Given the description of an element on the screen output the (x, y) to click on. 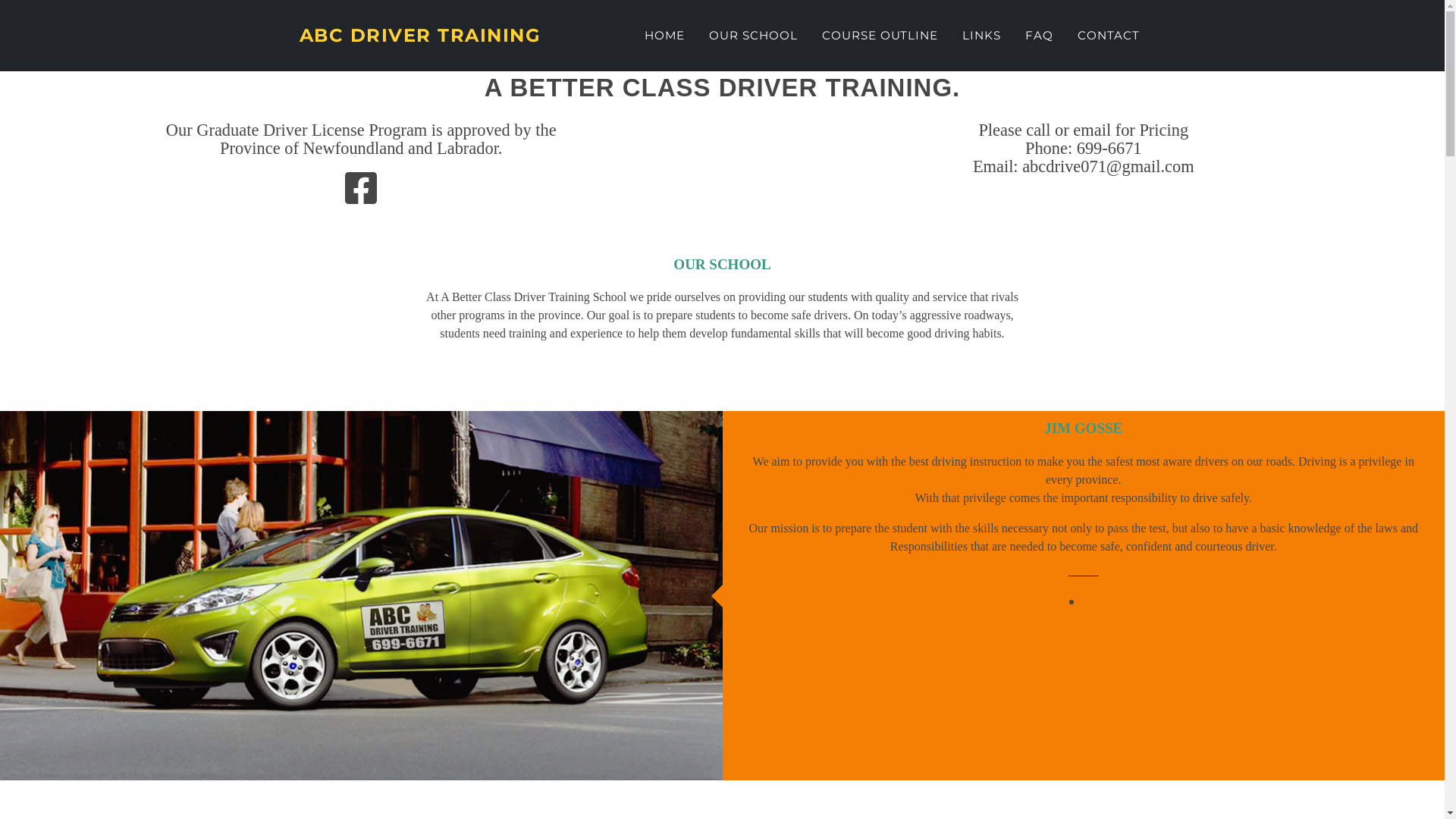
COURSE OUTLINE Element type: text (879, 35)
HOME Element type: text (664, 35)
ABC DRIVER TRAINING Element type: text (419, 35)
CONTACT Element type: text (1108, 35)
OUR SCHOOL Element type: text (752, 35)
FAQ Element type: text (1039, 35)
LINKS Element type: text (981, 35)
